Given the description of an element on the screen output the (x, y) to click on. 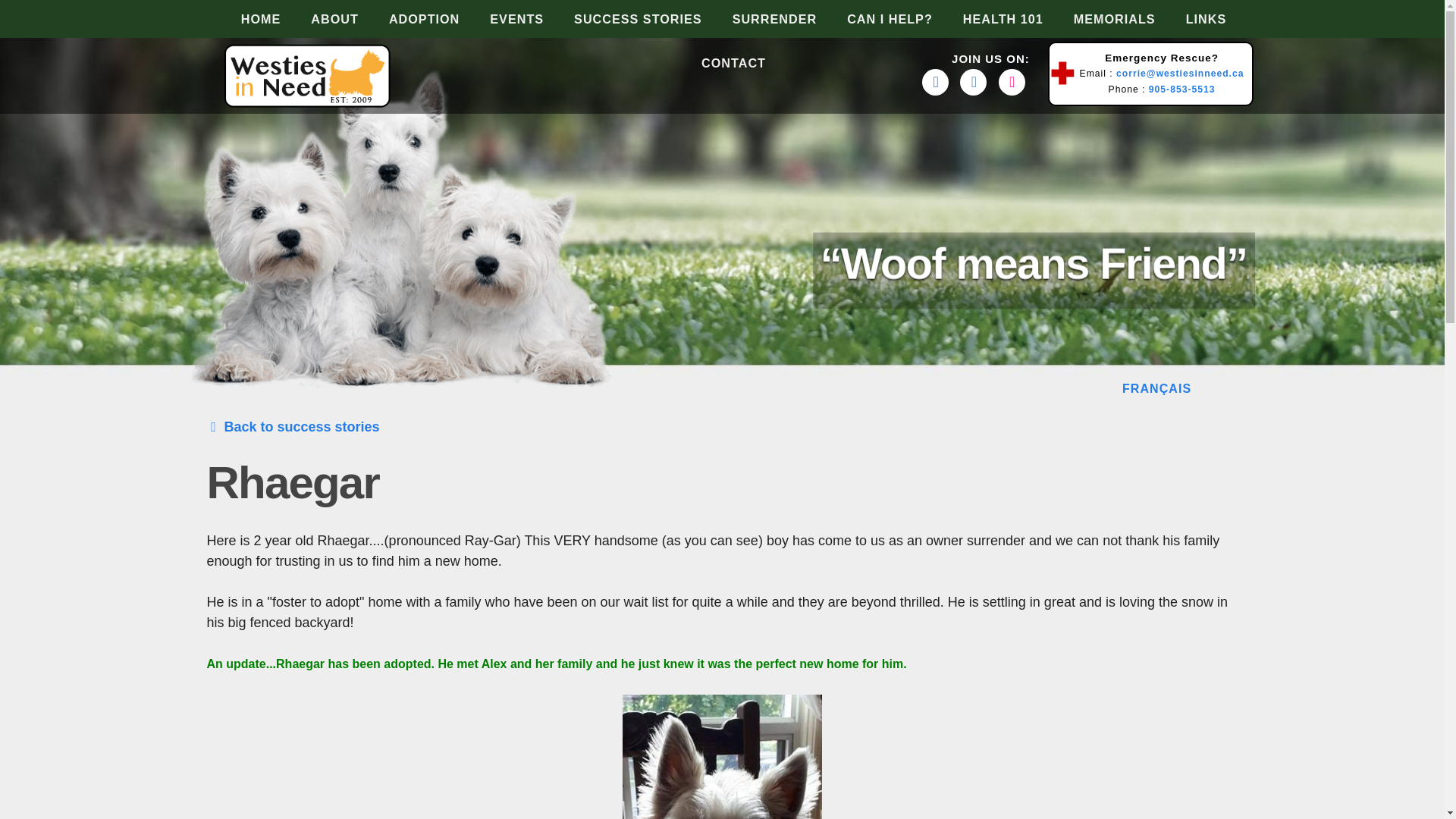
SUCCESS STORIES (626, 18)
EVENTS (505, 18)
905-853-5513 (1181, 88)
 Back to success stories (292, 426)
CONTACT (722, 62)
CAN I HELP? (878, 18)
ADOPTION (412, 18)
ABOUT (322, 18)
LINKS (1194, 18)
HOME (249, 18)
SURRENDER (763, 18)
HEALTH 101 (991, 18)
MEMORIALS (1102, 18)
